Given the description of an element on the screen output the (x, y) to click on. 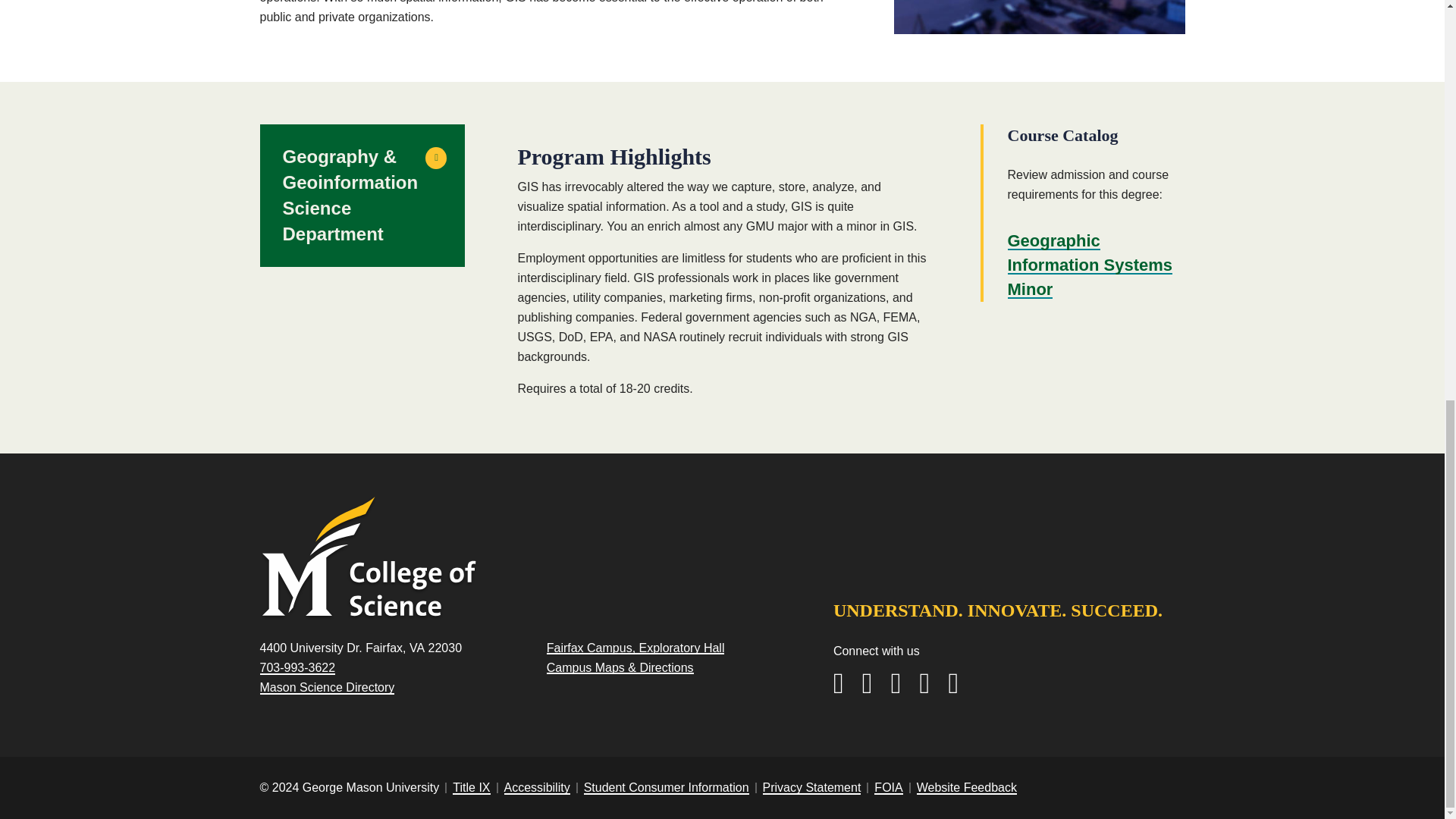
Privacy Statement (811, 787)
Mason Science Directory (326, 687)
Fairfax Campus, Exploratory Hall (636, 647)
Title IX (470, 787)
Geographic Information Systems Minor (1089, 264)
Student Consumer Information (666, 787)
Accessibility (536, 787)
703-993-3622 (296, 667)
